Given the description of an element on the screen output the (x, y) to click on. 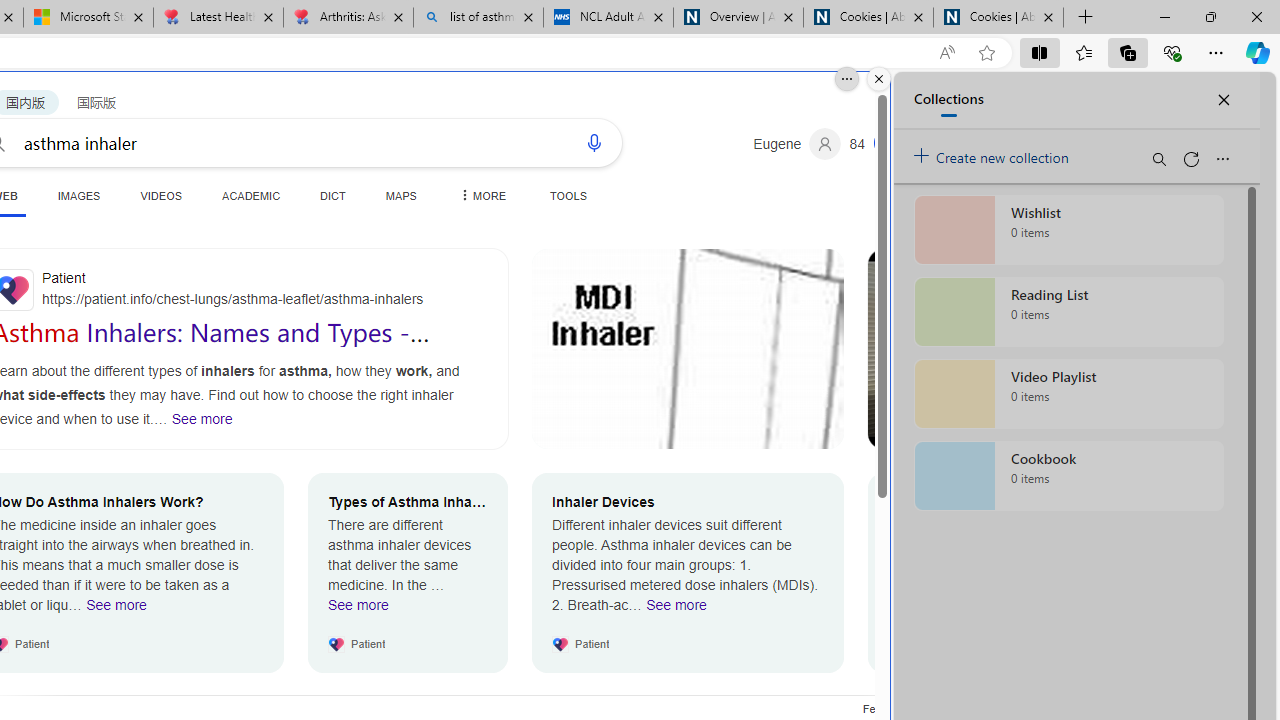
ACADEMIC (251, 195)
Close split screen. (878, 79)
DICT (333, 195)
MORE (481, 195)
Cookies | About | NICE (998, 17)
Dropdown Menu (481, 195)
VIDEOS (160, 195)
Microsoft Rewards 81 (878, 143)
AutomationID: serp_medal_svg (888, 142)
